Given the description of an element on the screen output the (x, y) to click on. 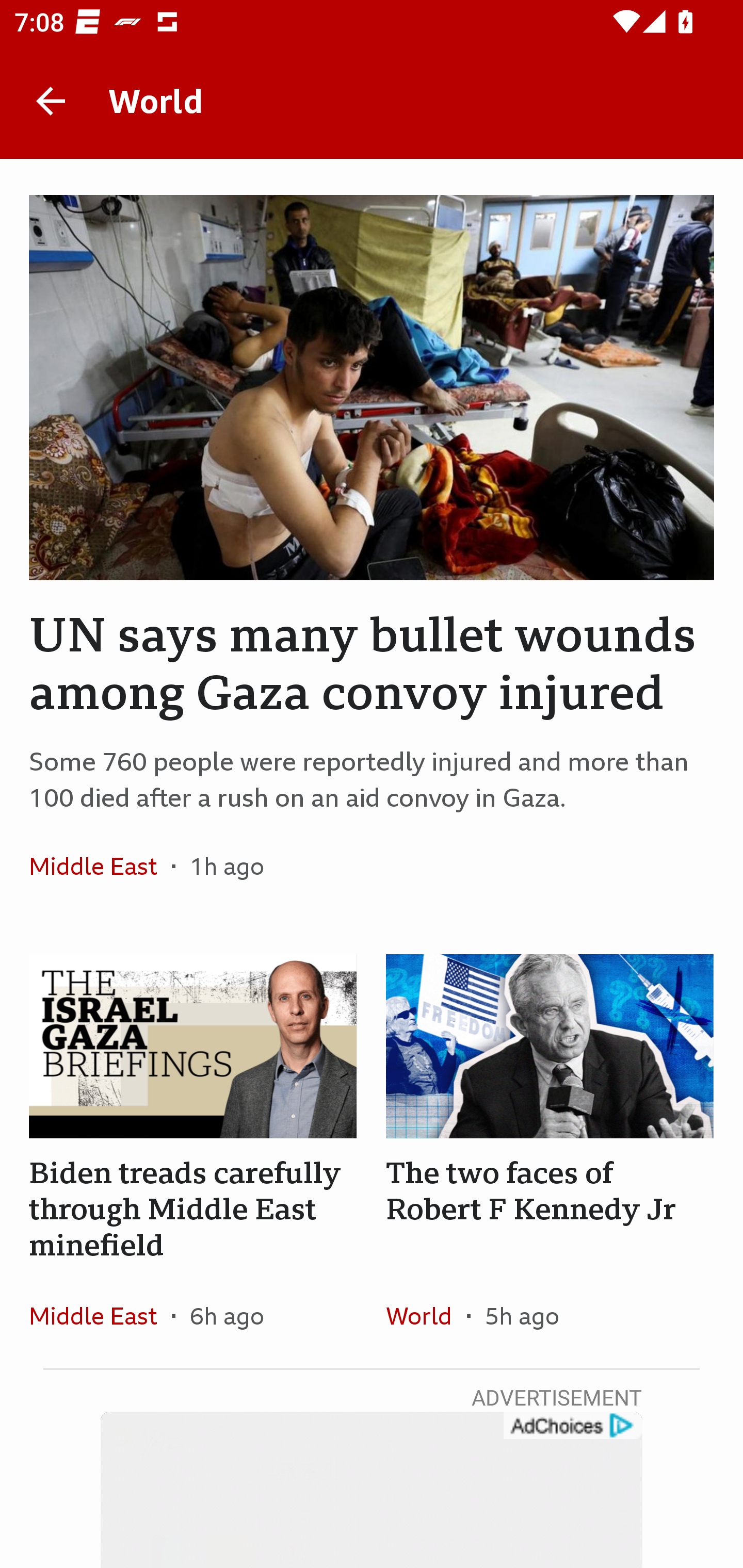
Back (50, 101)
Middle East In the section Middle East (99, 865)
Middle East In the section Middle East (99, 1315)
World In the section World (425, 1315)
Video Player get?name=admarker-full-tl   (371, 1489)
get?name=admarker-full-tl (571, 1425)
